Given the description of an element on the screen output the (x, y) to click on. 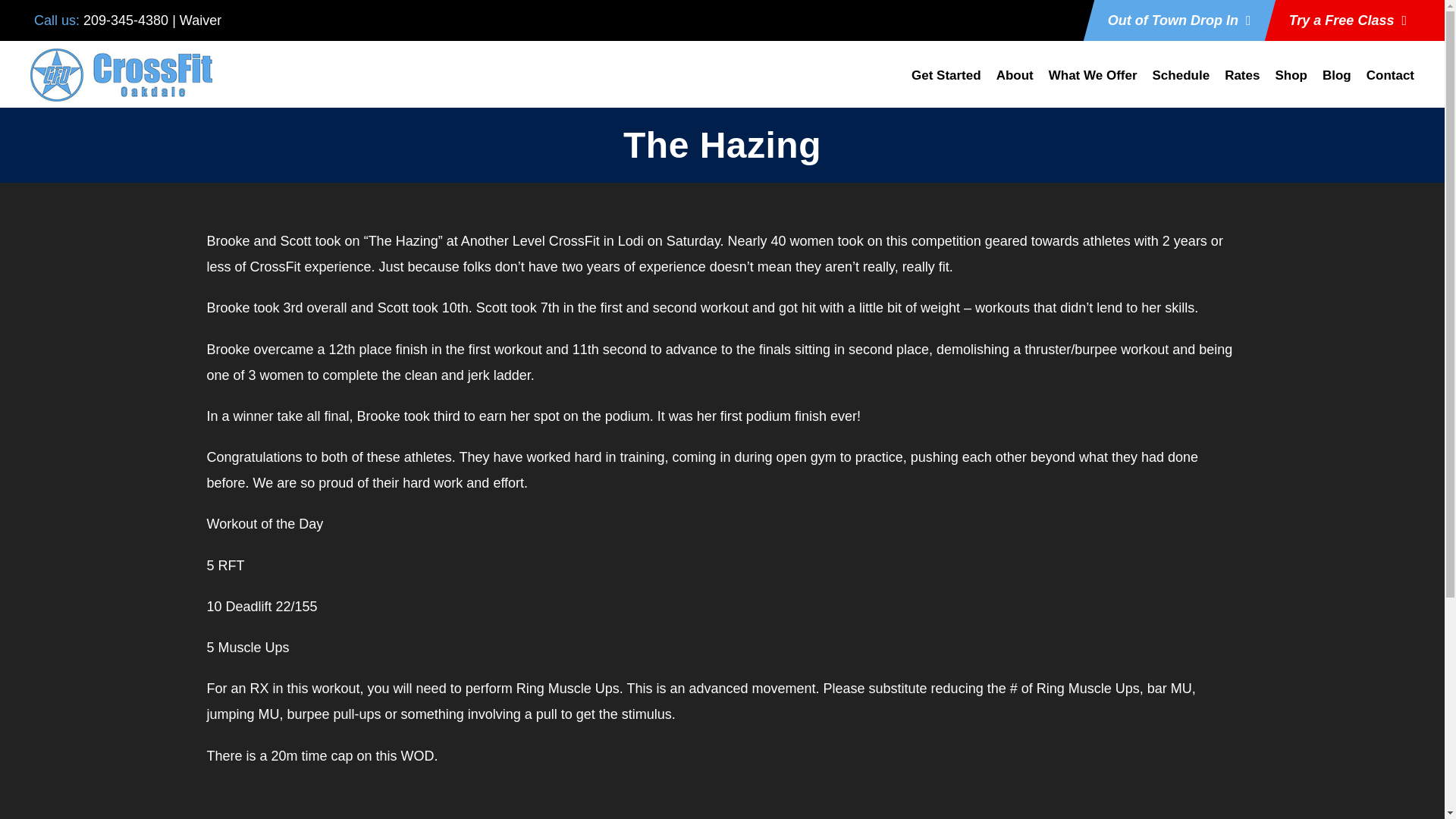
Waiver (200, 20)
Blog (1336, 84)
Get Started (946, 84)
Try a Free Class (1347, 20)
Schedule (1181, 84)
What We Offer (1092, 84)
Contact (1390, 84)
Rates (1241, 84)
Out of Town Drop In (1179, 20)
Shop (1291, 84)
About (1014, 84)
logo-crossfit-oakdale (121, 74)
